Given the description of an element on the screen output the (x, y) to click on. 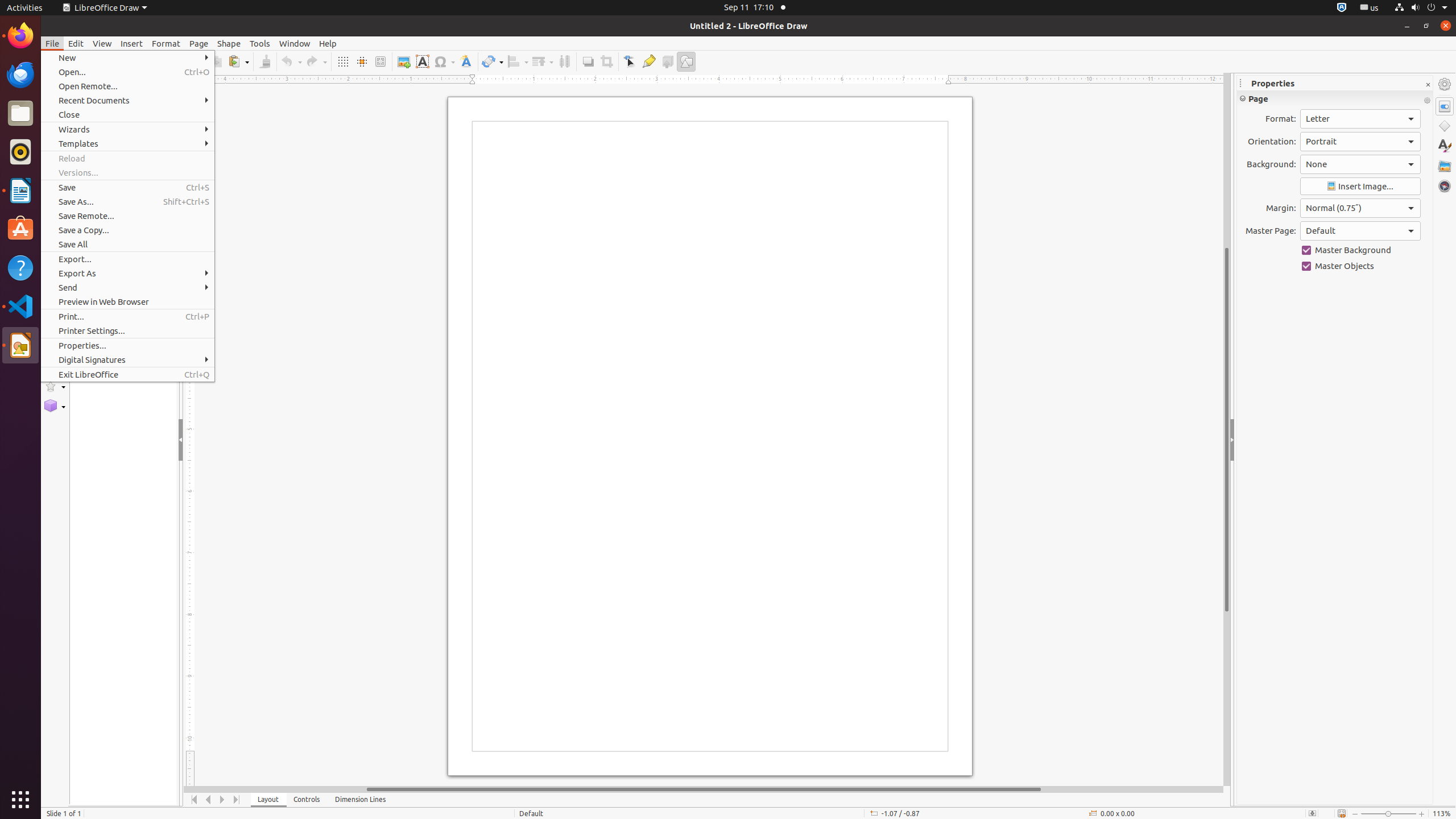
Grid Element type: toggle-button (342, 61)
Exit LibreOffice Element type: menu-item (127, 374)
Printer Settings... Element type: menu-item (127, 330)
Ubuntu Software Element type: push-button (20, 229)
Save Element type: menu-item (127, 187)
